Given the description of an element on the screen output the (x, y) to click on. 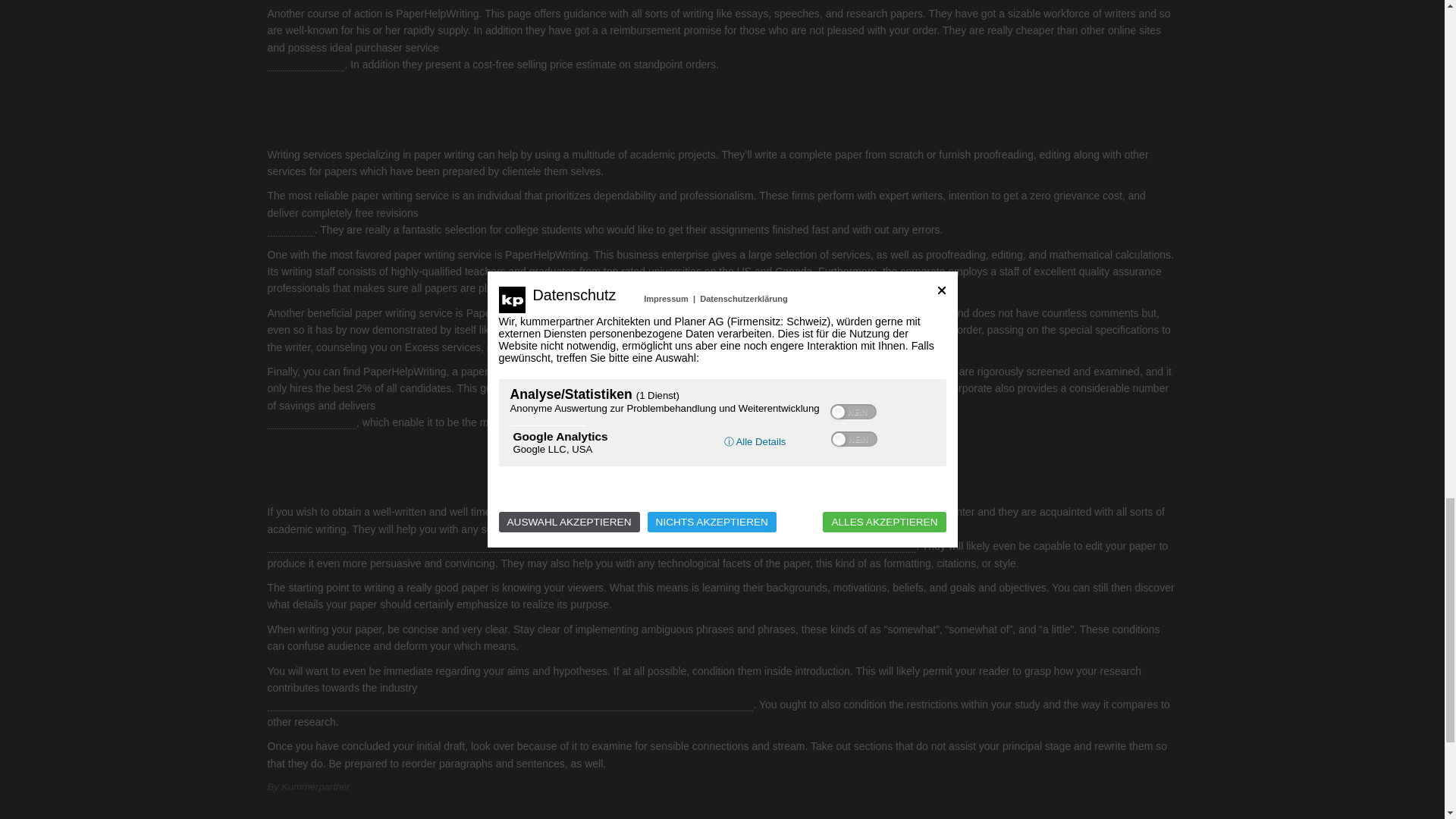
By Kummerpartner (307, 787)
paperhelp (290, 229)
dissertation help (304, 64)
paper help writings (311, 422)
